Given the description of an element on the screen output the (x, y) to click on. 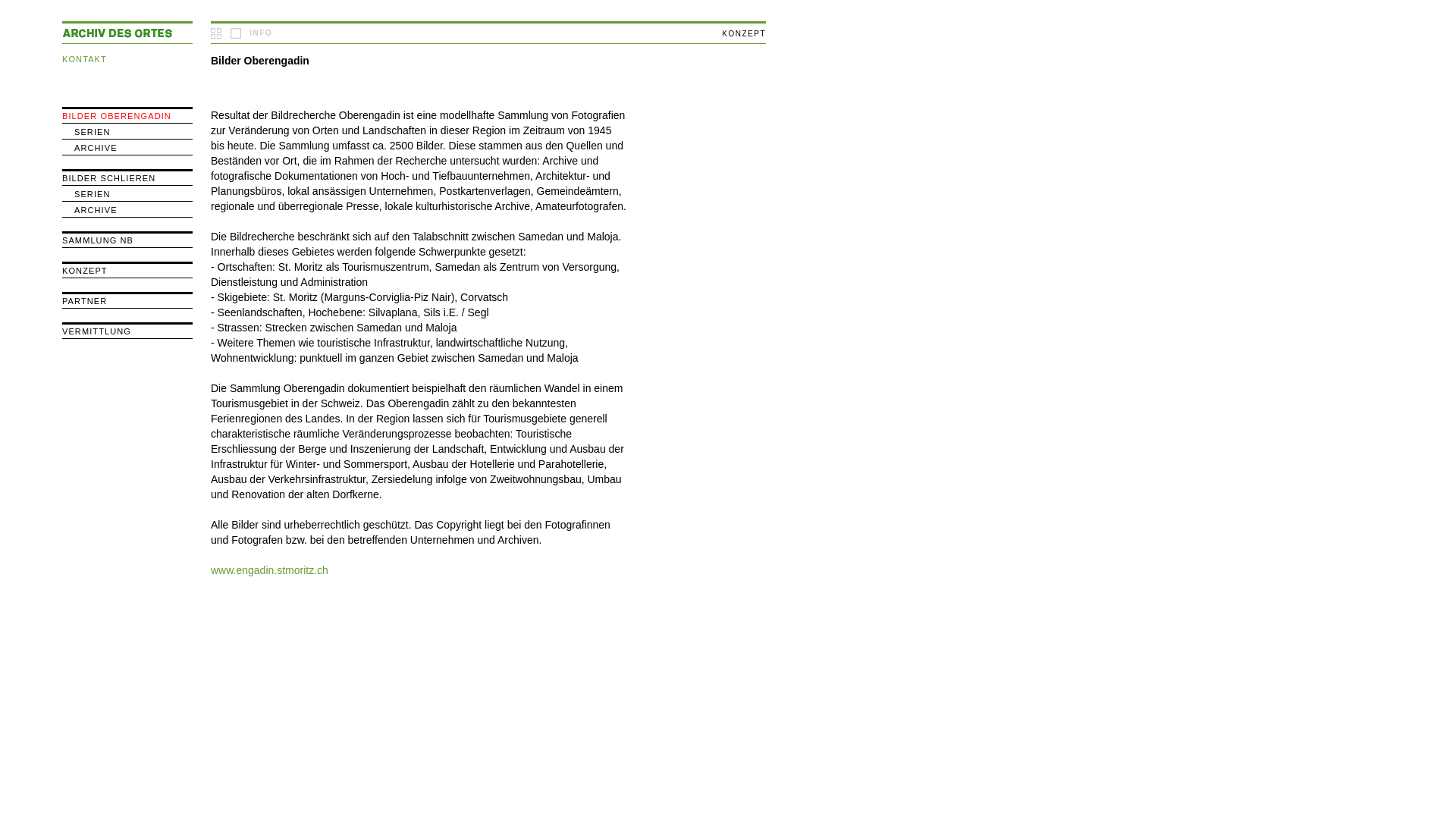
ARCHIVE Element type: text (95, 147)
PARTNER Element type: text (84, 300)
SERIEN Element type: text (92, 193)
KONZEPT Element type: text (84, 270)
KONTAKT Element type: text (84, 58)
VERMITTLUNG Element type: text (96, 330)
BILDER OBERENGADIN Element type: text (116, 115)
SAMMLUNG NB Element type: text (97, 239)
KONZEPT Element type: text (743, 33)
www.engadin.stmoritz.ch Element type: text (269, 570)
SERIEN Element type: text (92, 131)
BILDER SCHLIEREN Element type: text (108, 177)
ARCHIVE Element type: text (95, 209)
